Given the description of an element on the screen output the (x, y) to click on. 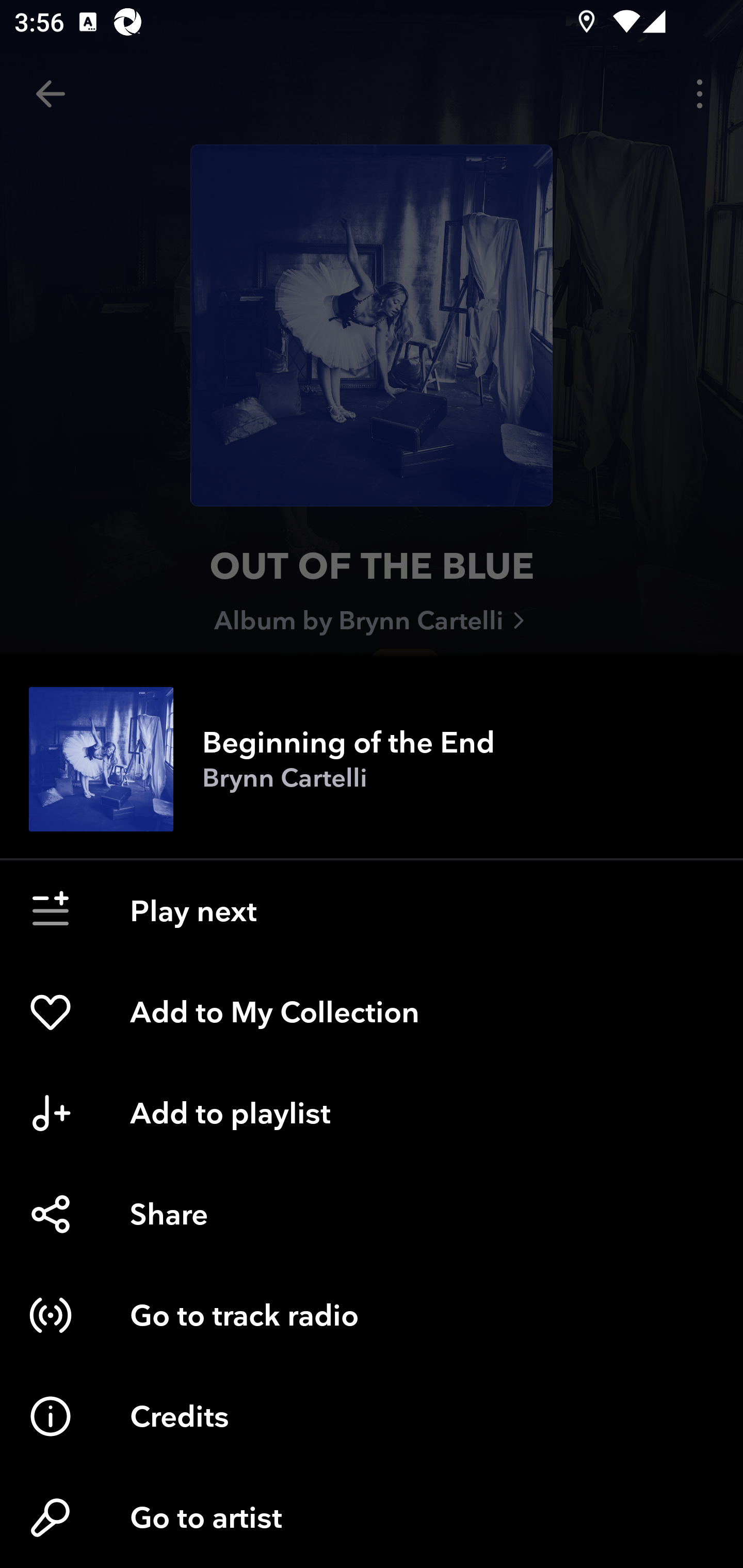
Play next (371, 910)
Add to My Collection (371, 1012)
Add to playlist (371, 1113)
Share (371, 1214)
Go to track radio (371, 1315)
Credits (371, 1416)
Go to artist (371, 1517)
